Given the description of an element on the screen output the (x, y) to click on. 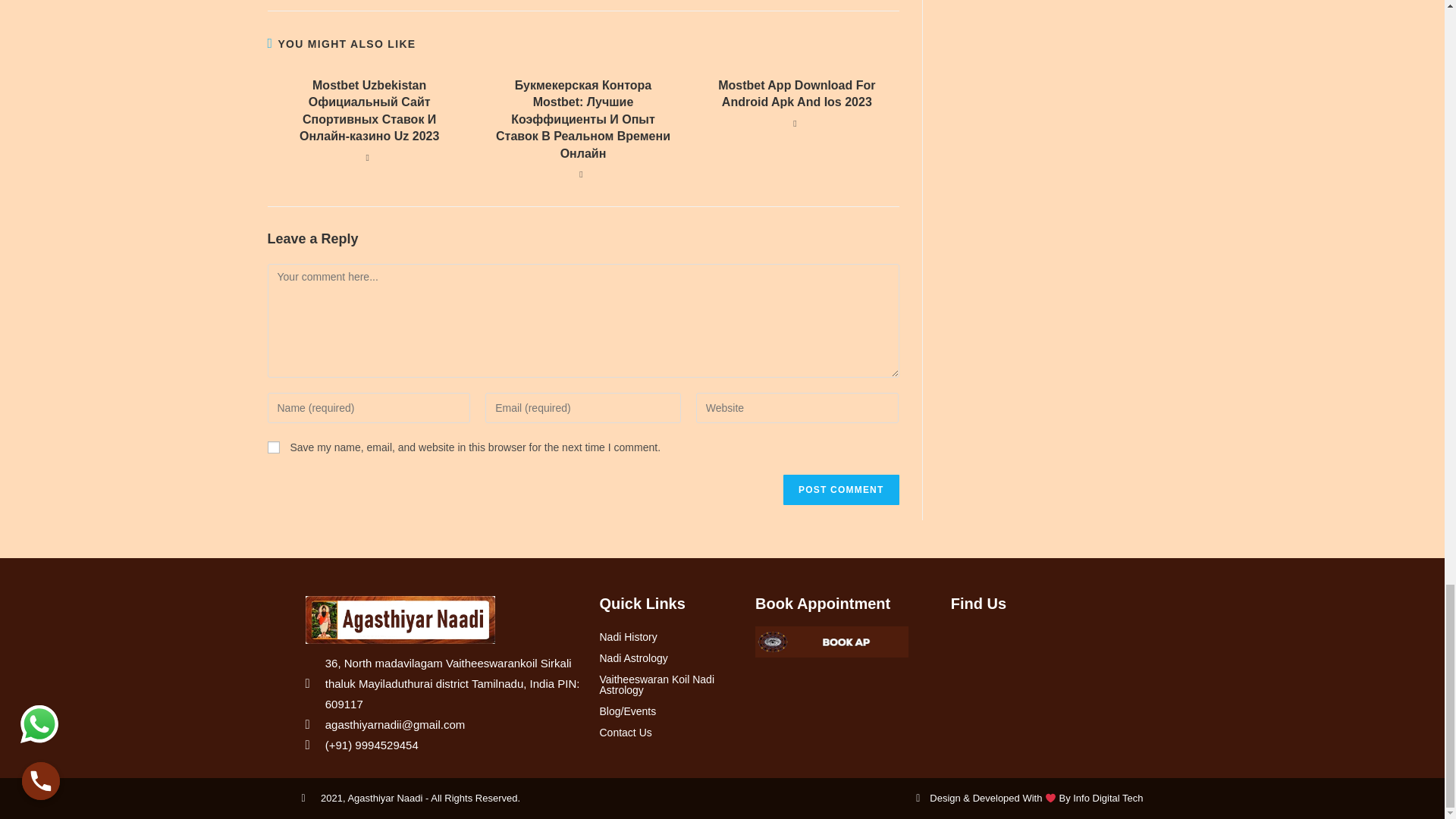
yes (272, 447)
Vaitheeswarankoil, Tamil Nadu 609117 (1045, 690)
Post Comment (840, 490)
